Given the description of an element on the screen output the (x, y) to click on. 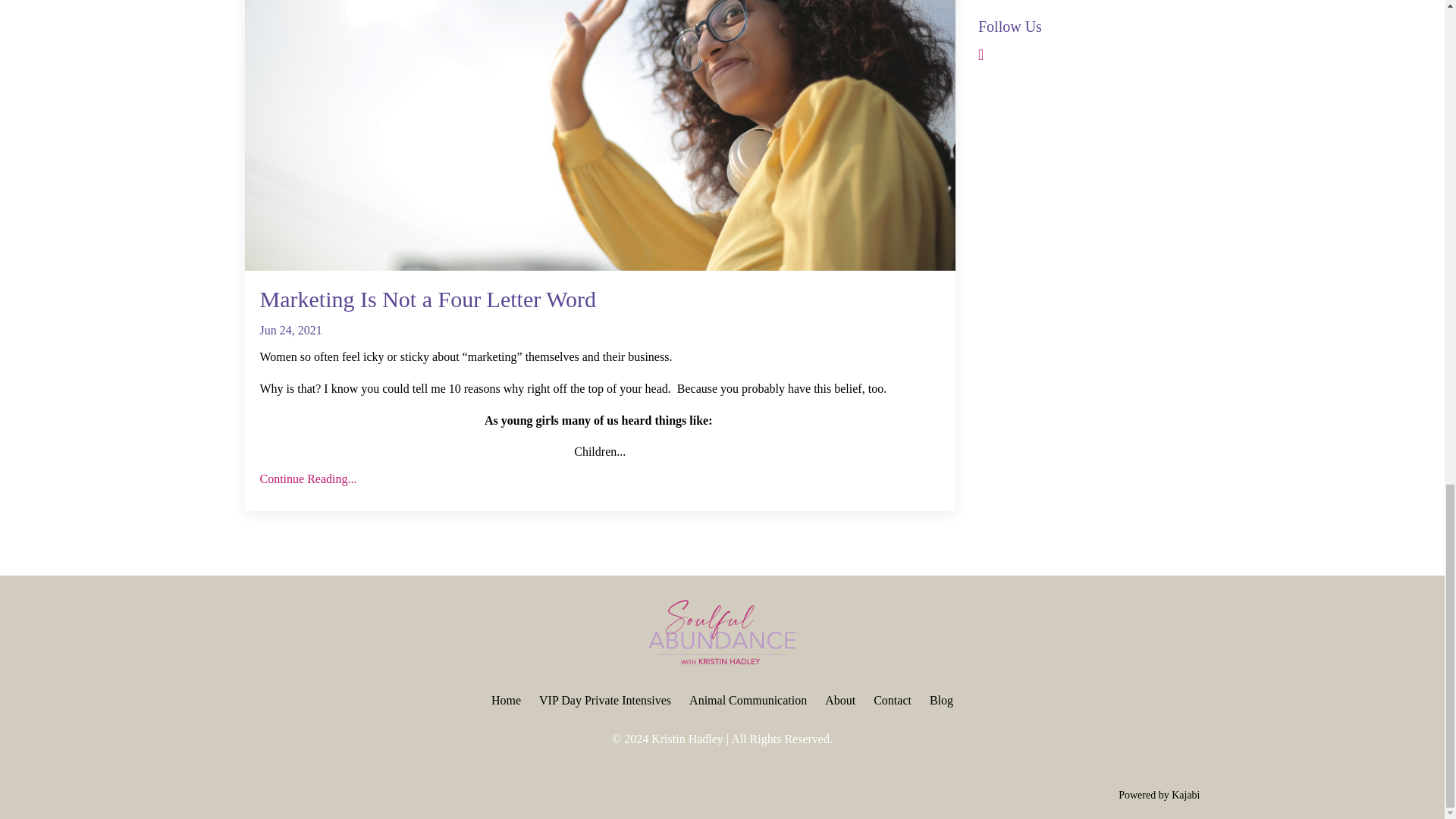
Continue Reading... (599, 478)
Marketing Is Not a Four Letter Word (599, 298)
